Given the description of an element on the screen output the (x, y) to click on. 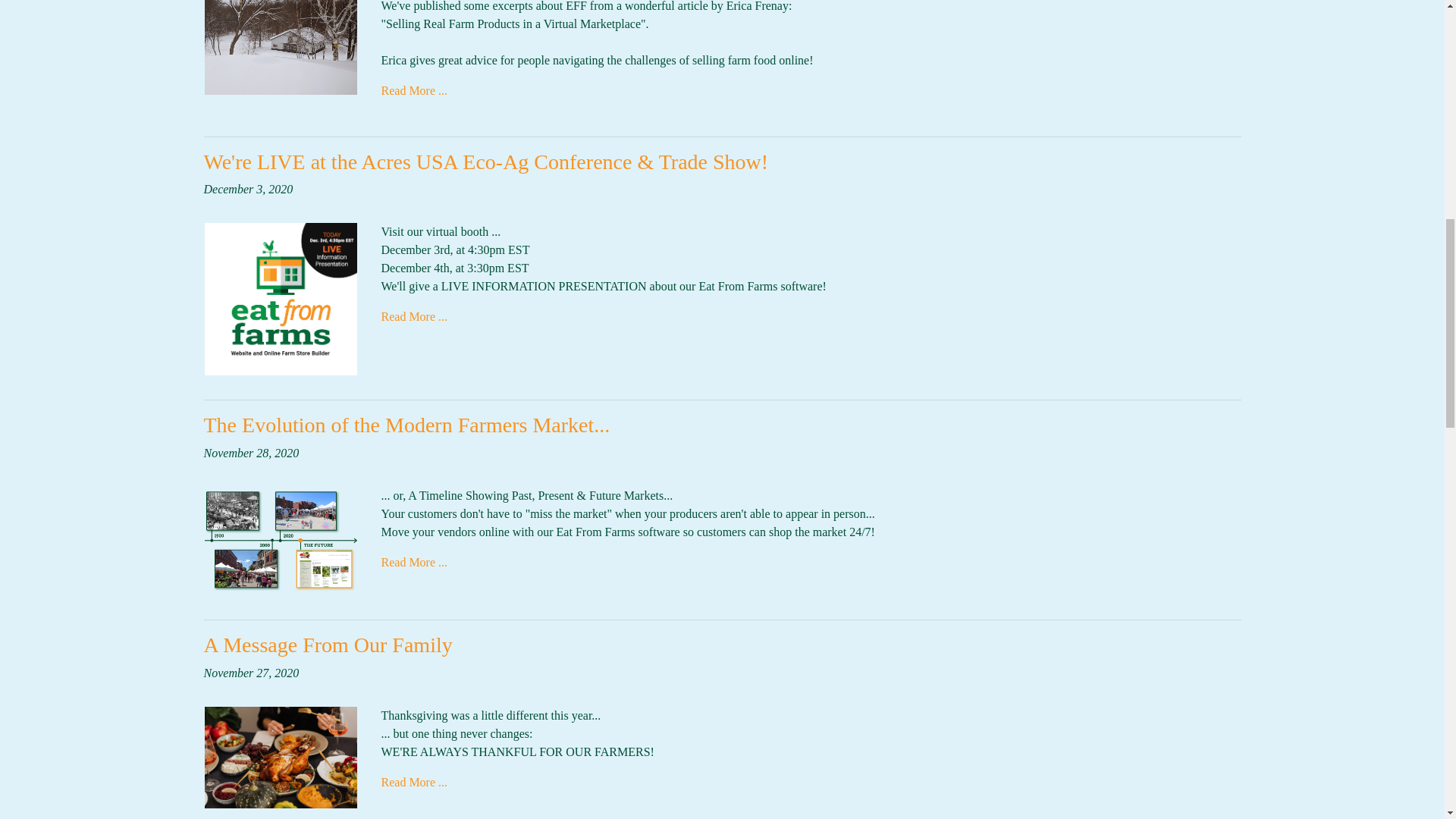
The Evolution of the Modern Farmers Market... (406, 424)
Read More ... (413, 562)
Read More ... (413, 90)
A Message From Our Family (327, 644)
Read More ... (413, 781)
Read More ... (413, 316)
